Given the description of an element on the screen output the (x, y) to click on. 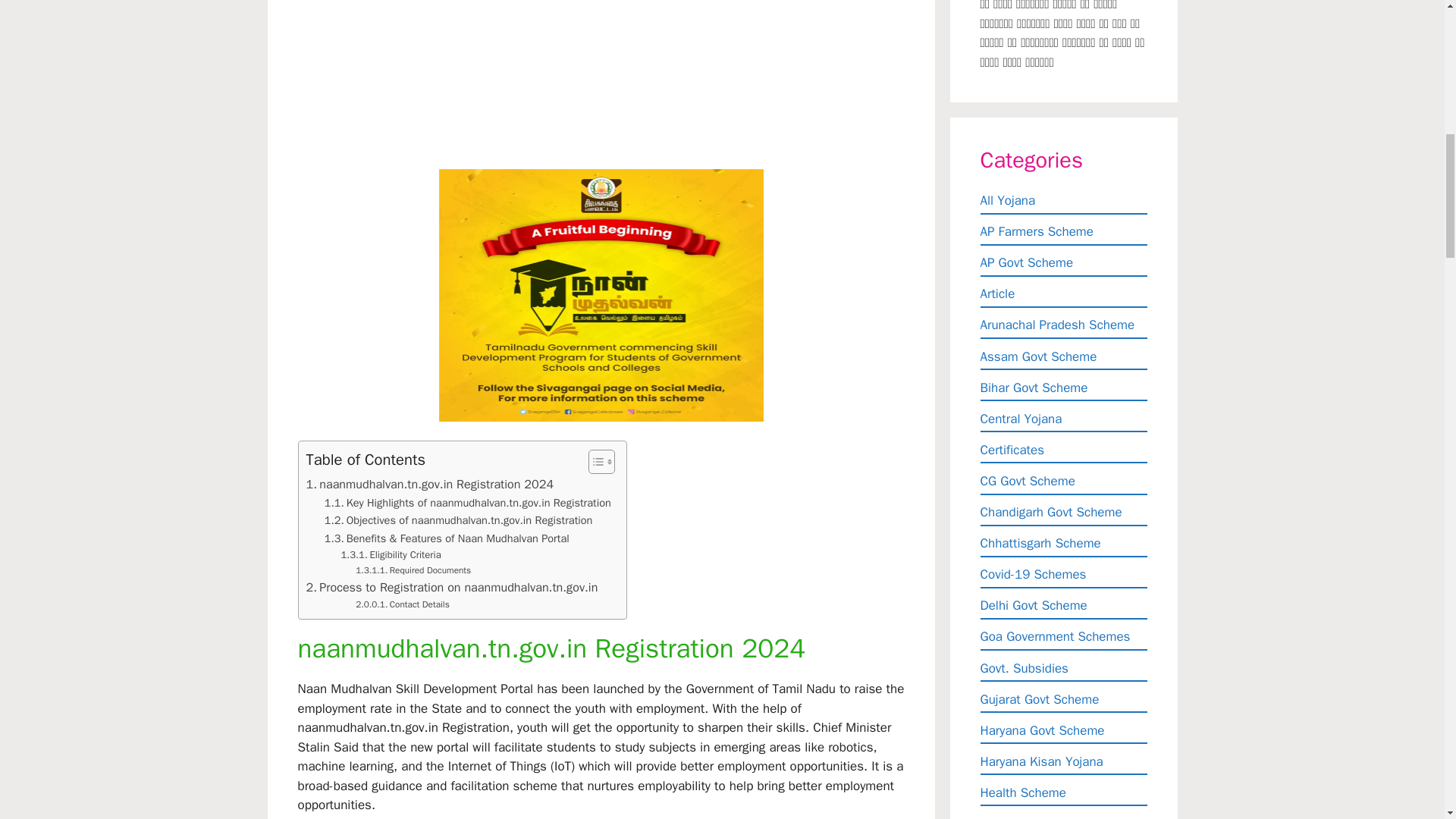
Contact Details (402, 604)
Eligibility Criteria (390, 555)
naanmudhalvan.tn.gov.in Registration 2024 (429, 484)
naanmudhalvan.tn.gov.in Registration 2024 (429, 484)
Objectives of naanmudhalvan.tn.gov.in Registration (458, 520)
Advertisement (604, 81)
Key Highlights of naanmudhalvan.tn.gov.in Registration (467, 502)
Required Documents (412, 570)
Process to Registration on naanmudhalvan.tn.gov.in (451, 587)
Key Highlights of naanmudhalvan.tn.gov.in Registration (467, 502)
